Given the description of an element on the screen output the (x, y) to click on. 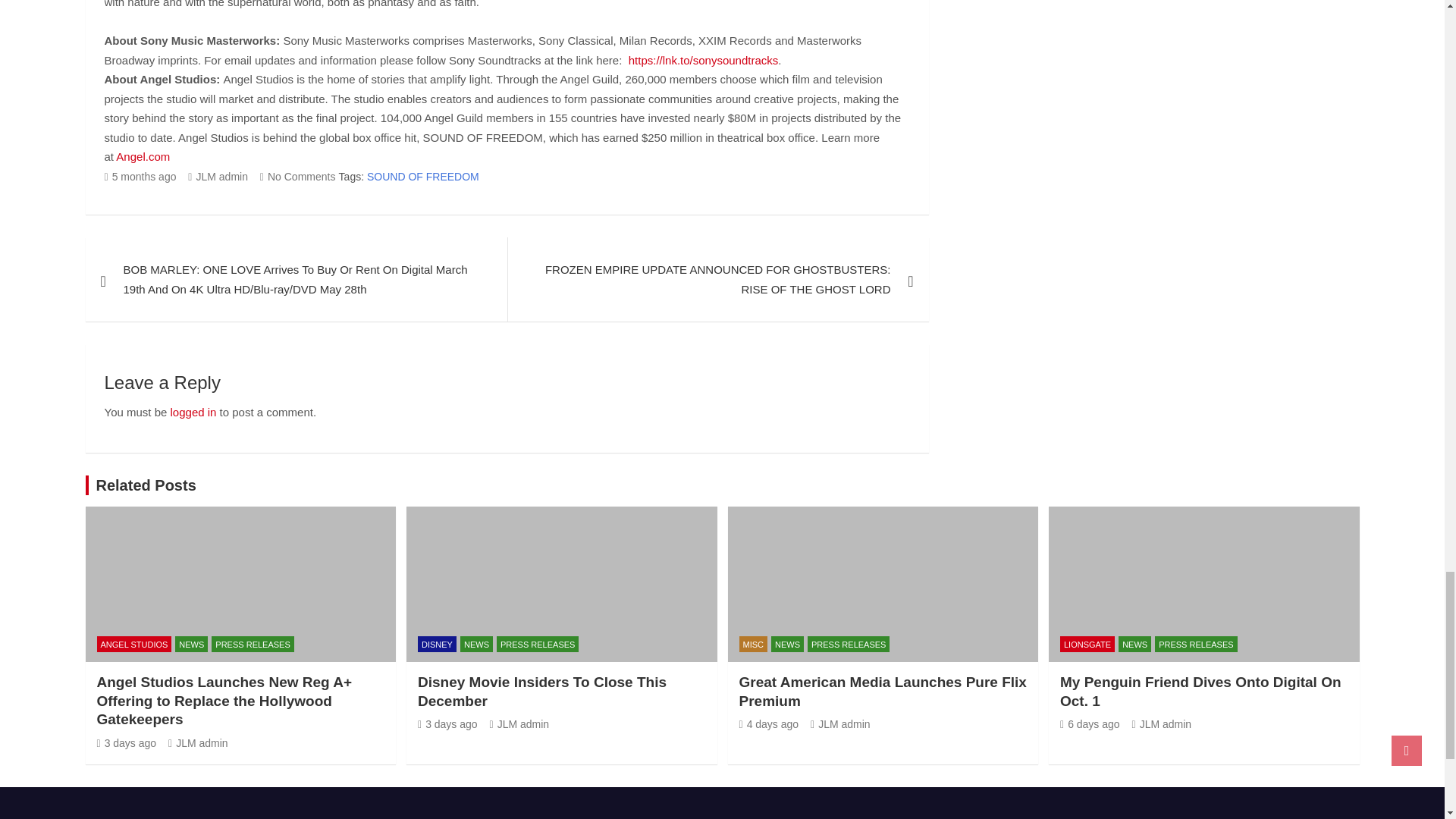
Angel.com (143, 155)
5 months ago (140, 176)
6 days ago (1089, 724)
JLM admin (217, 176)
logged in (193, 411)
SOUND OF FREEDOM (422, 177)
No Comments (298, 176)
5 months ago (140, 176)
3 days ago (127, 743)
